Given the description of an element on the screen output the (x, y) to click on. 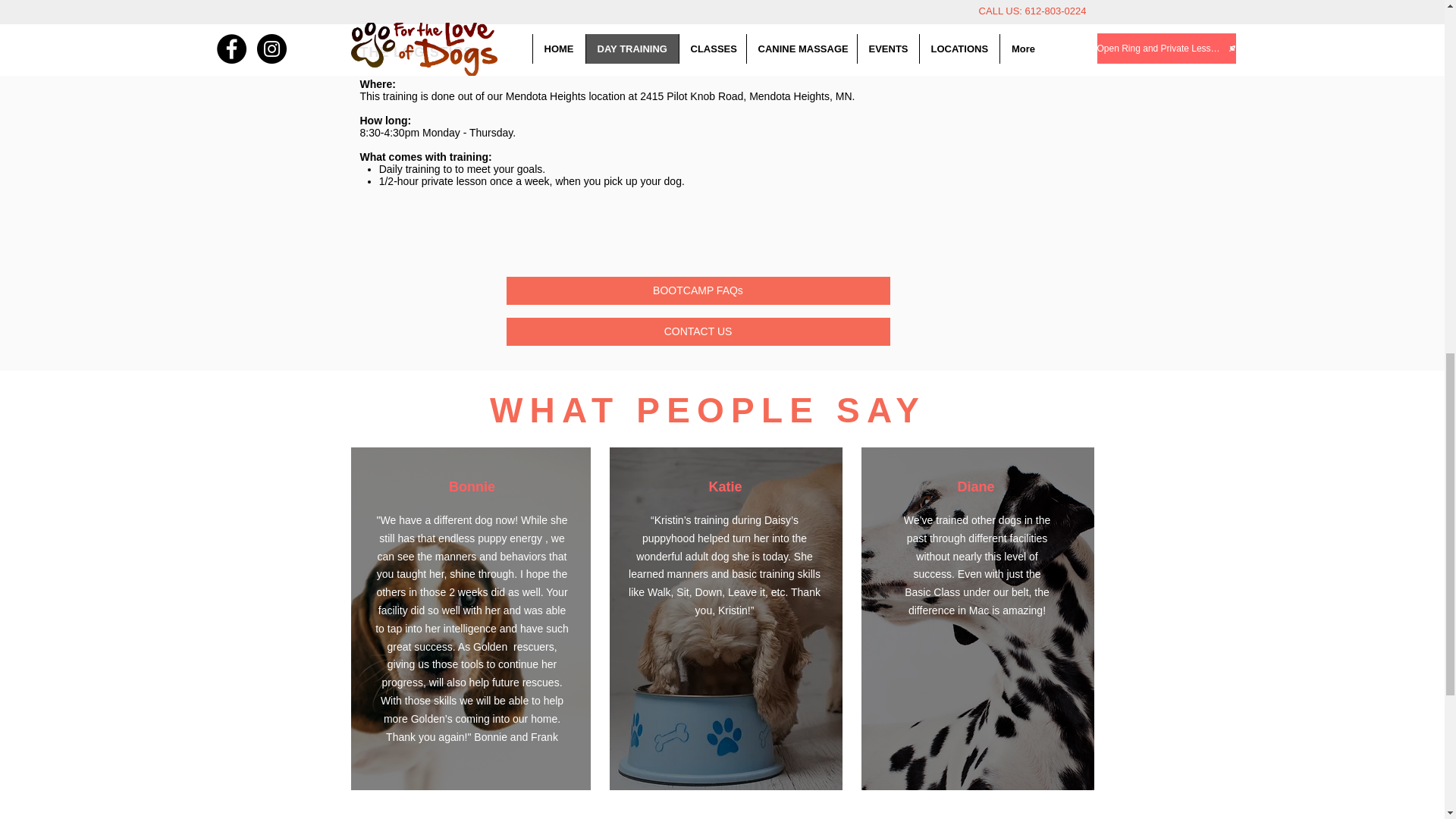
CONTACT US (697, 331)
BOOTCAMP FAQs (697, 290)
